Given the description of an element on the screen output the (x, y) to click on. 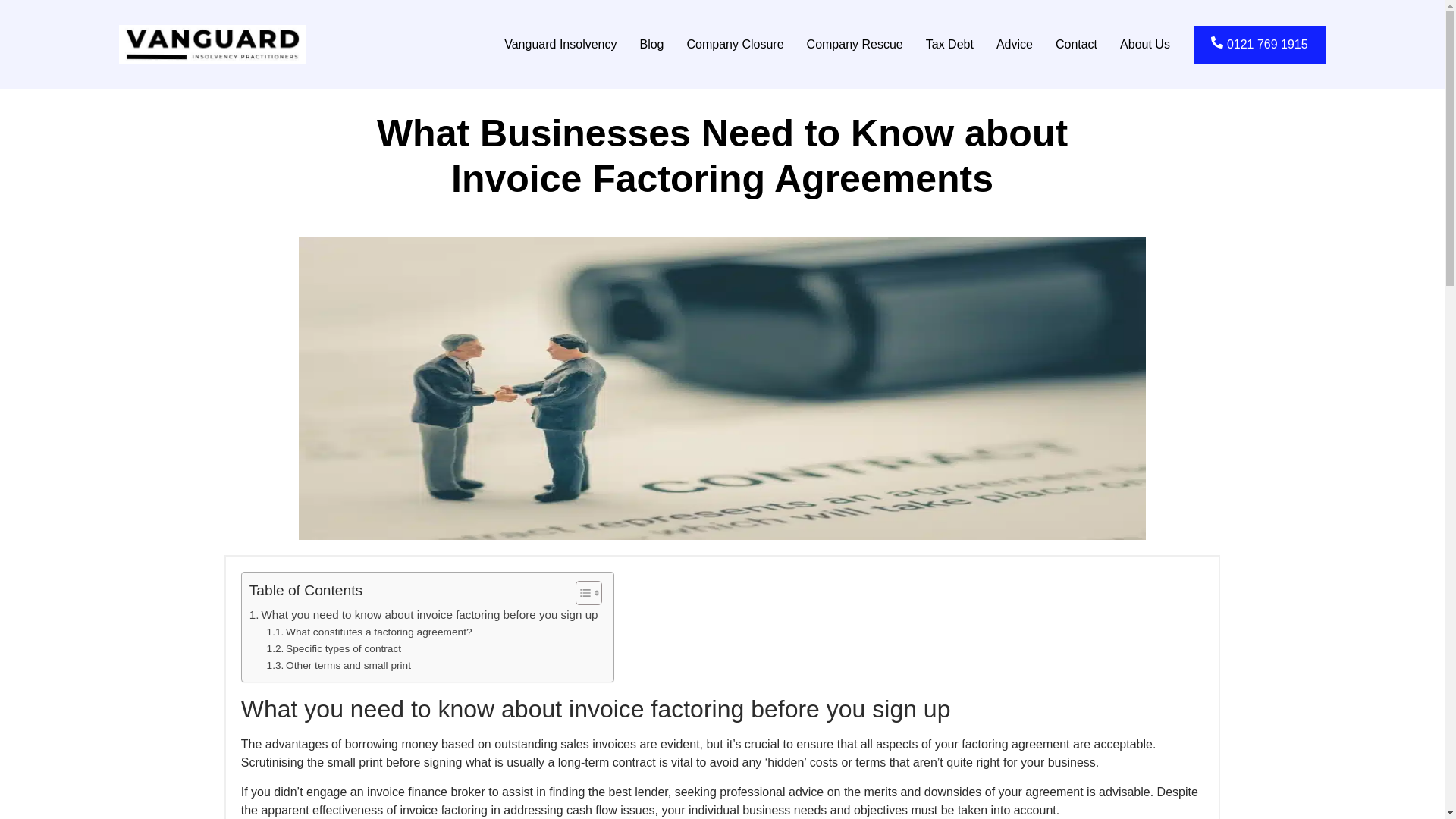
Tax Debt (949, 44)
What constitutes a factoring agreement? (368, 632)
Other terms and small print (338, 665)
Contact (1075, 44)
About Us (1144, 44)
Blog (651, 44)
Advice (1014, 44)
Specific types of contract (333, 648)
Vanguard Insolvency (560, 44)
Company Closure (734, 44)
Company Rescue (854, 44)
